Given the description of an element on the screen output the (x, y) to click on. 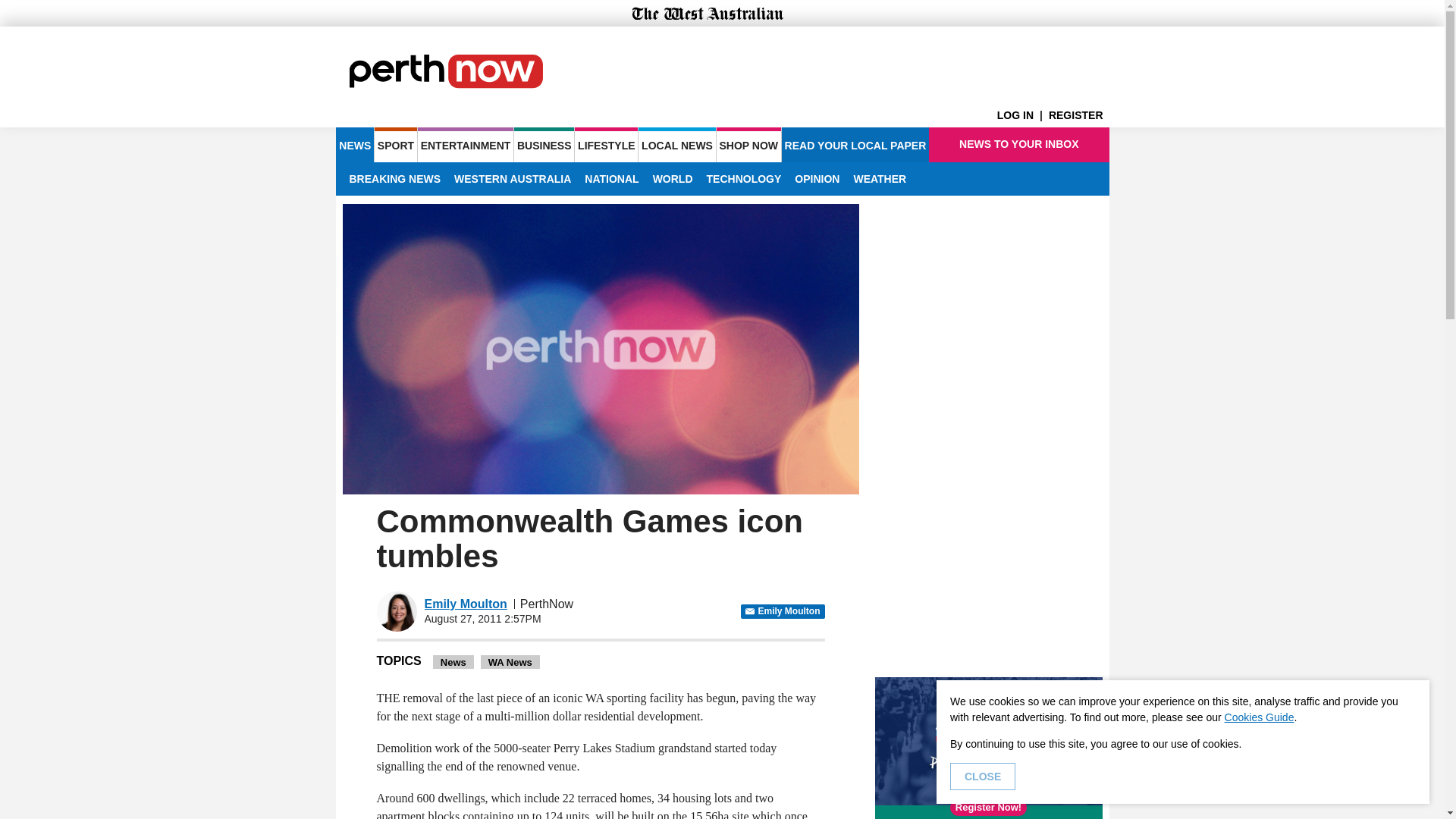
SPORT (395, 144)
NEWS (354, 144)
LOG IN (1022, 115)
REGISTER (1078, 115)
ENTERTAINMENT (465, 144)
